Given the description of an element on the screen output the (x, y) to click on. 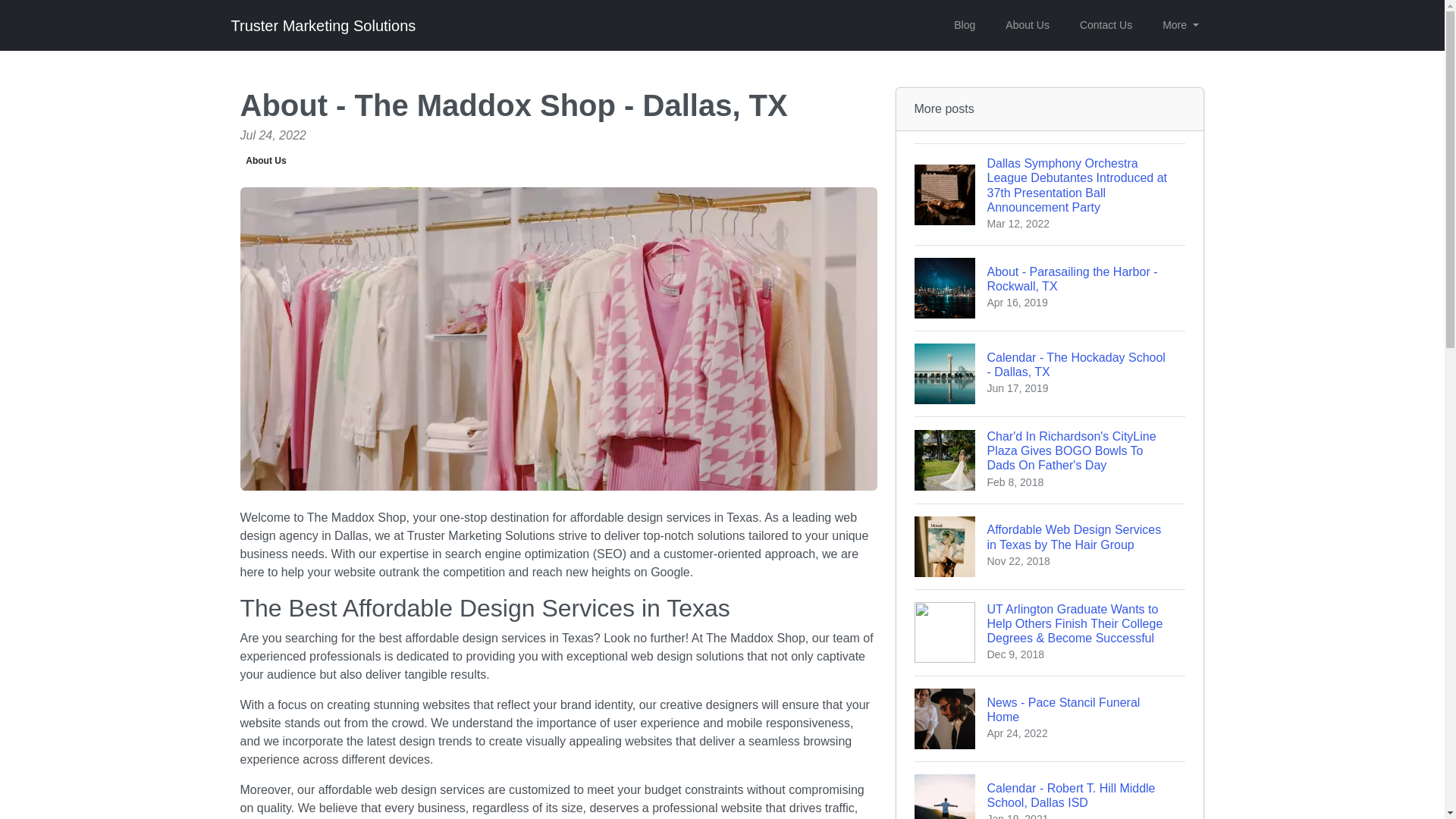
Blog (964, 25)
Contact Us (1050, 373)
Truster Marketing Solutions (1050, 718)
About Us (1105, 25)
